Given the description of an element on the screen output the (x, y) to click on. 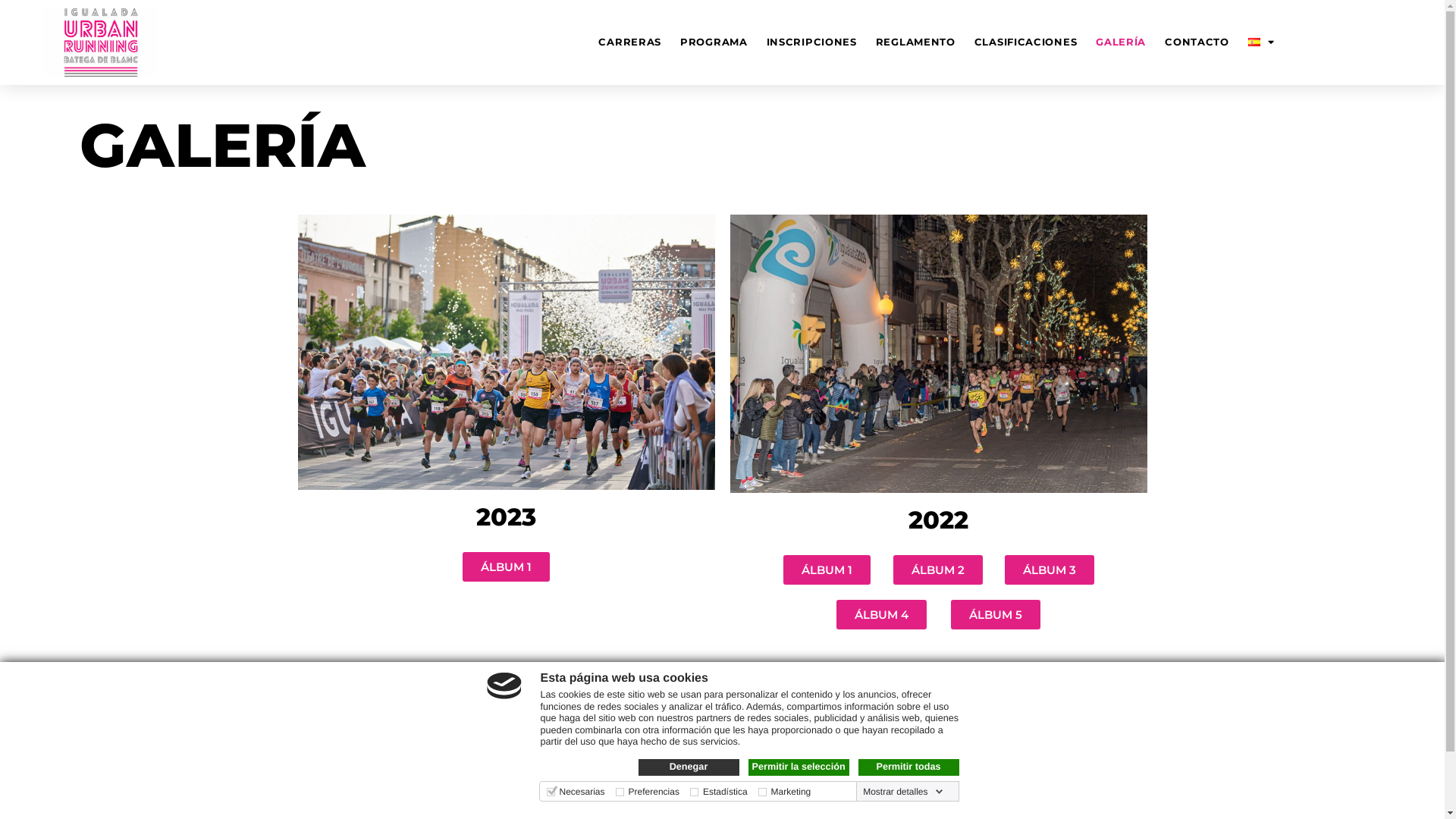
REGLAMENTO Element type: text (915, 41)
PROGRAMA Element type: text (713, 41)
Mostrar detalles Element type: text (902, 791)
CONTACTO Element type: text (1196, 41)
CLASIFICACIONES Element type: text (1025, 41)
INSCRIPCIONES Element type: text (811, 41)
Permitir todas Element type: text (908, 767)
CARRERAS Element type: text (629, 41)
Denegar Element type: text (688, 767)
